Given the description of an element on the screen output the (x, y) to click on. 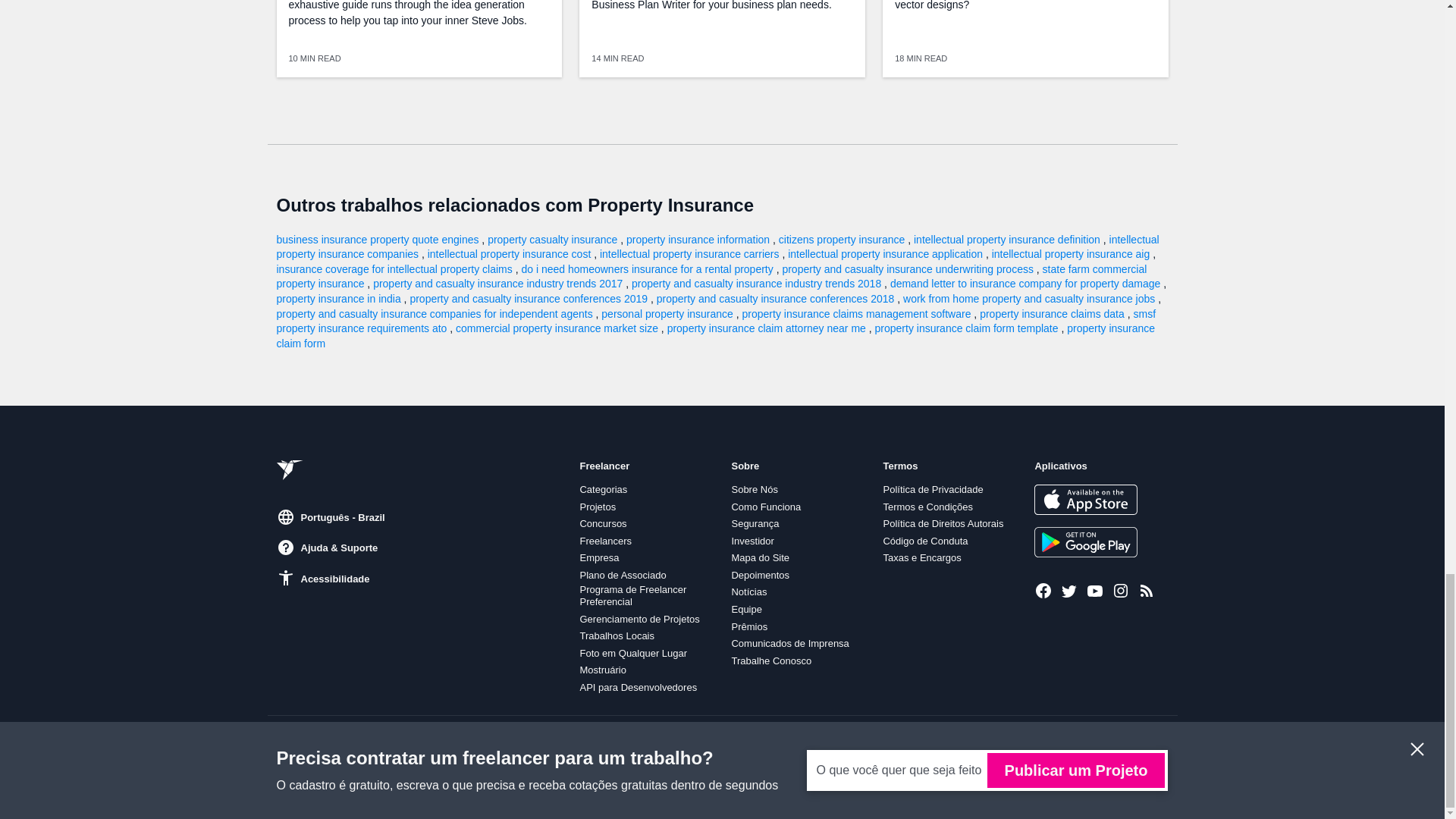
Freelancer no Youtube (1094, 590)
Freelancer no Facebook (1042, 590)
Obter no Google Play (1085, 542)
Projetos mais Recentes (1146, 590)
Freelancer no Instagram (1120, 590)
Baixar da App Store (1085, 499)
Freelancer no Twitter (1068, 590)
